Given the description of an element on the screen output the (x, y) to click on. 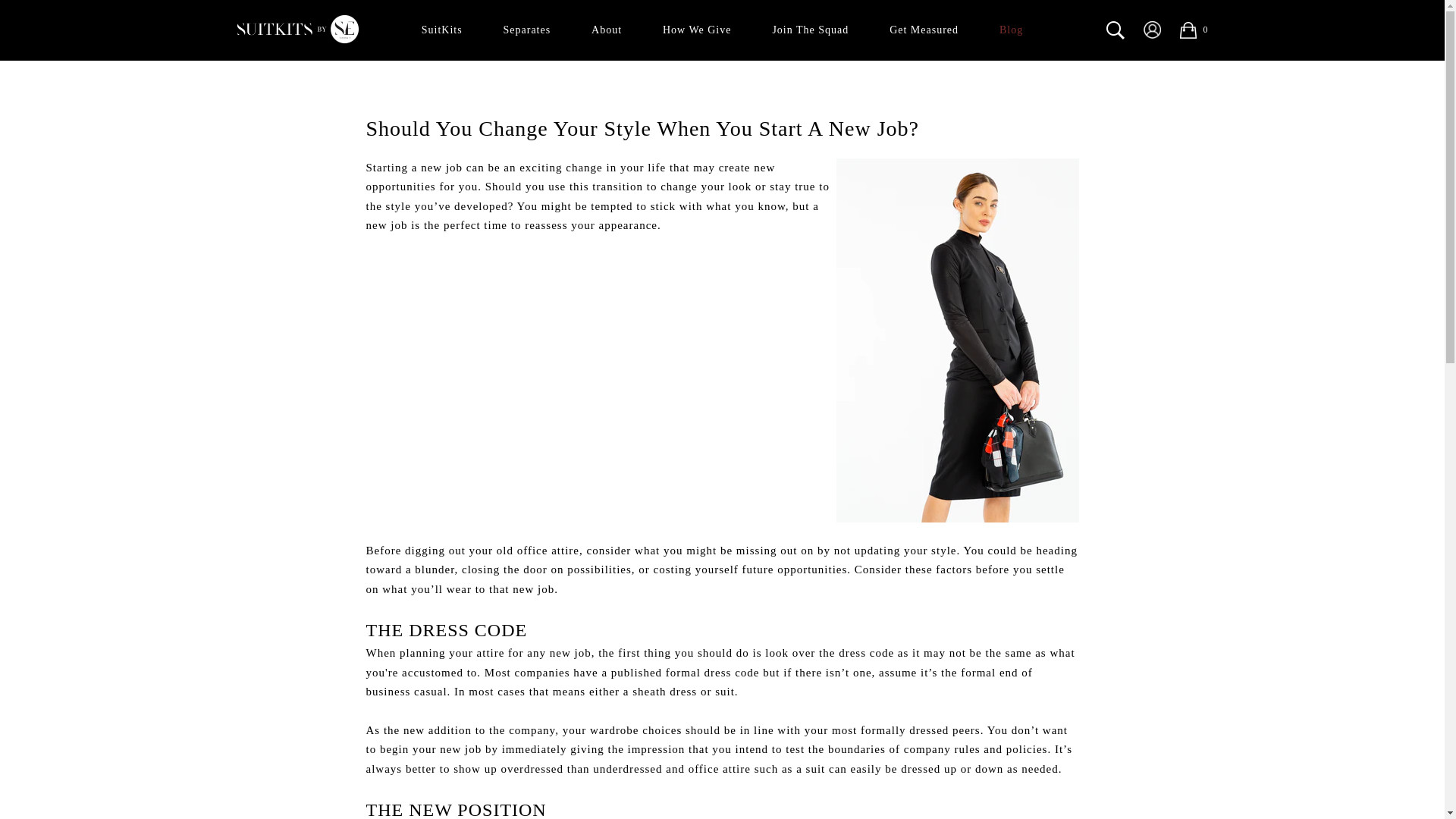
How We Give (697, 30)
Join The Squad (809, 30)
Get Measured (923, 30)
0 (1193, 30)
